Given the description of an element on the screen output the (x, y) to click on. 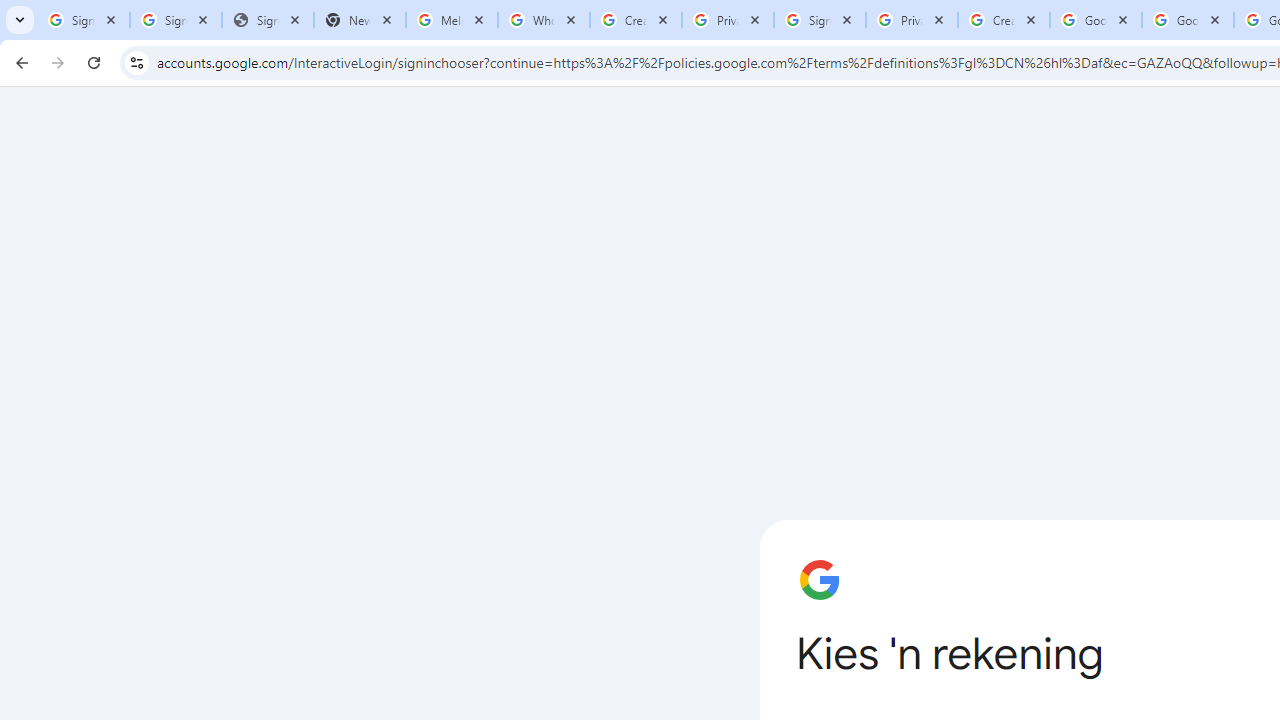
Sign in - Google Accounts (175, 20)
Sign In - USA TODAY (267, 20)
